Given the description of an element on the screen output the (x, y) to click on. 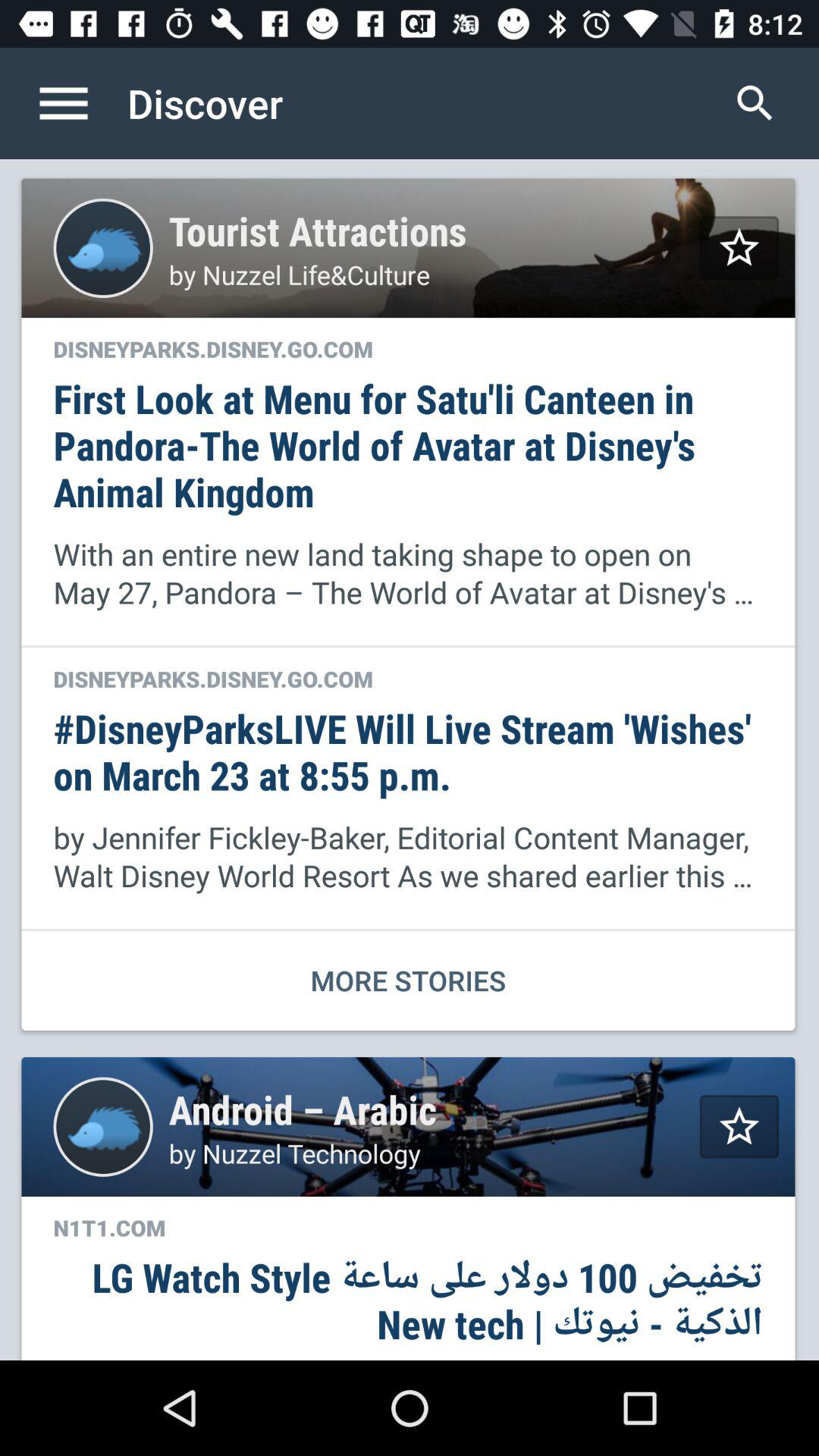
save this (739, 1126)
